Given the description of an element on the screen output the (x, y) to click on. 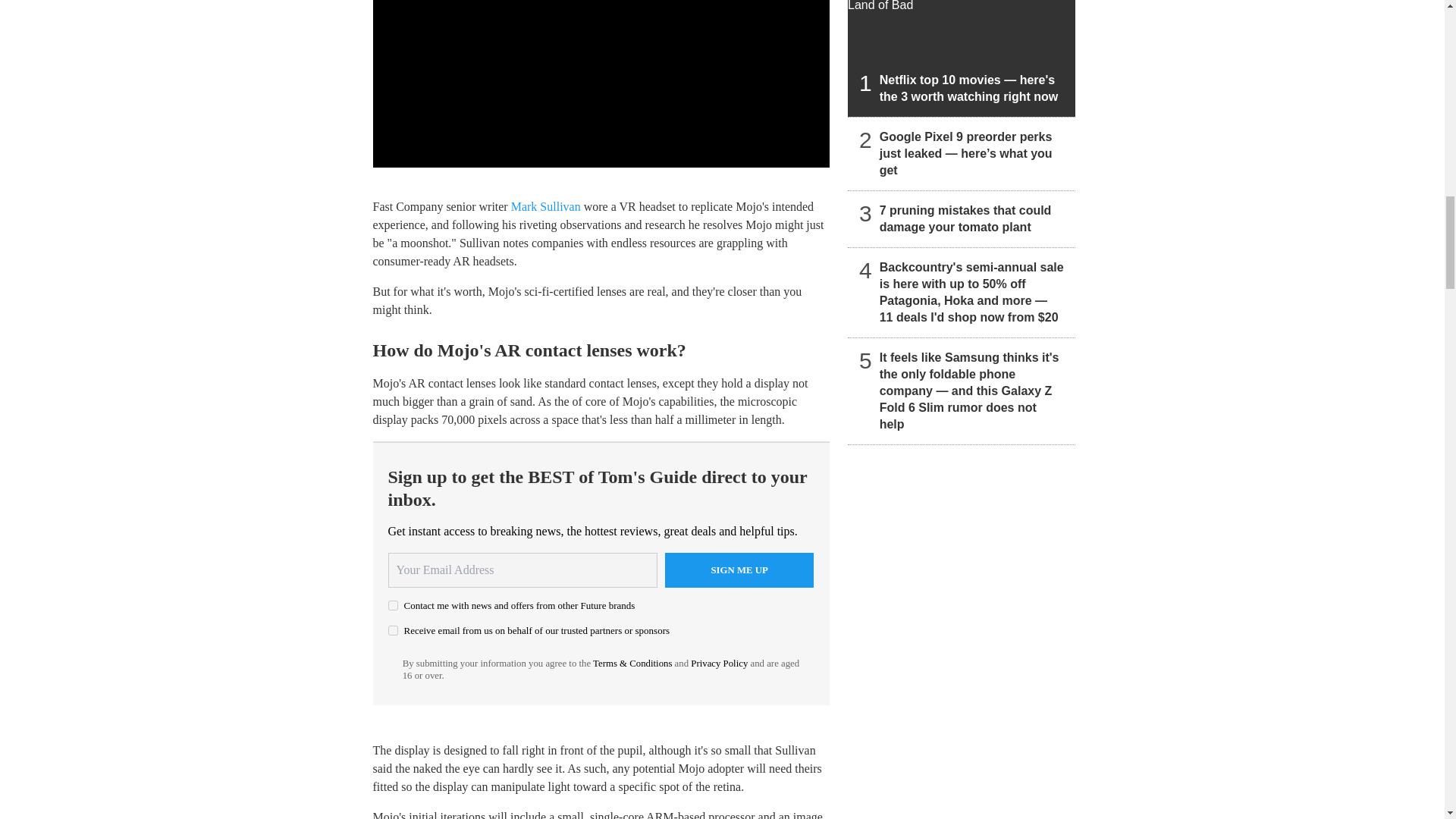
on (392, 630)
on (392, 605)
Sign me up (739, 570)
